Given the description of an element on the screen output the (x, y) to click on. 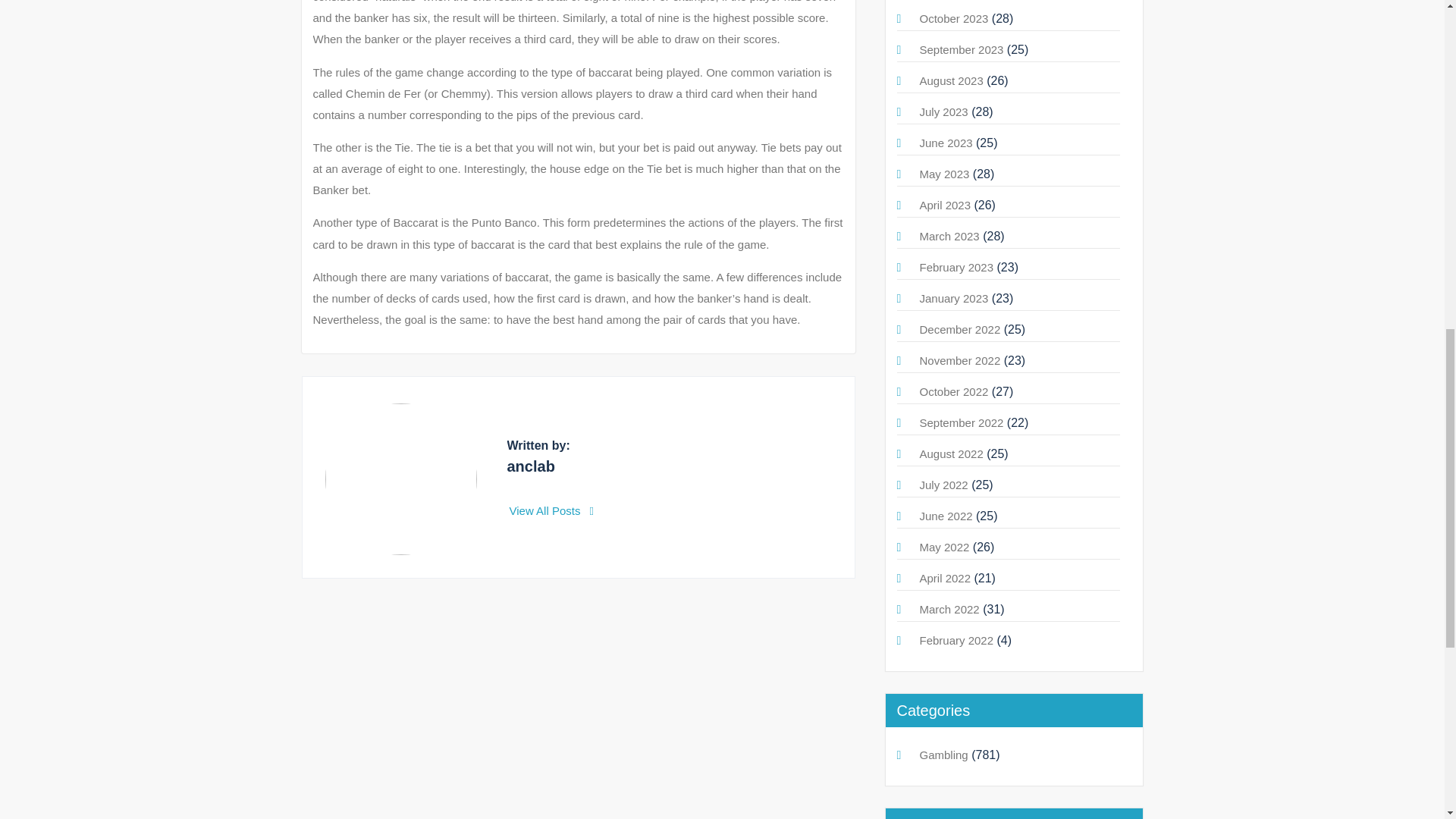
August 2022 (950, 453)
July 2023 (943, 111)
October 2022 (953, 391)
View All Posts (551, 510)
April 2023 (944, 205)
February 2023 (955, 267)
January 2023 (953, 297)
August 2023 (950, 80)
September 2022 (960, 422)
March 2023 (948, 236)
